Given the description of an element on the screen output the (x, y) to click on. 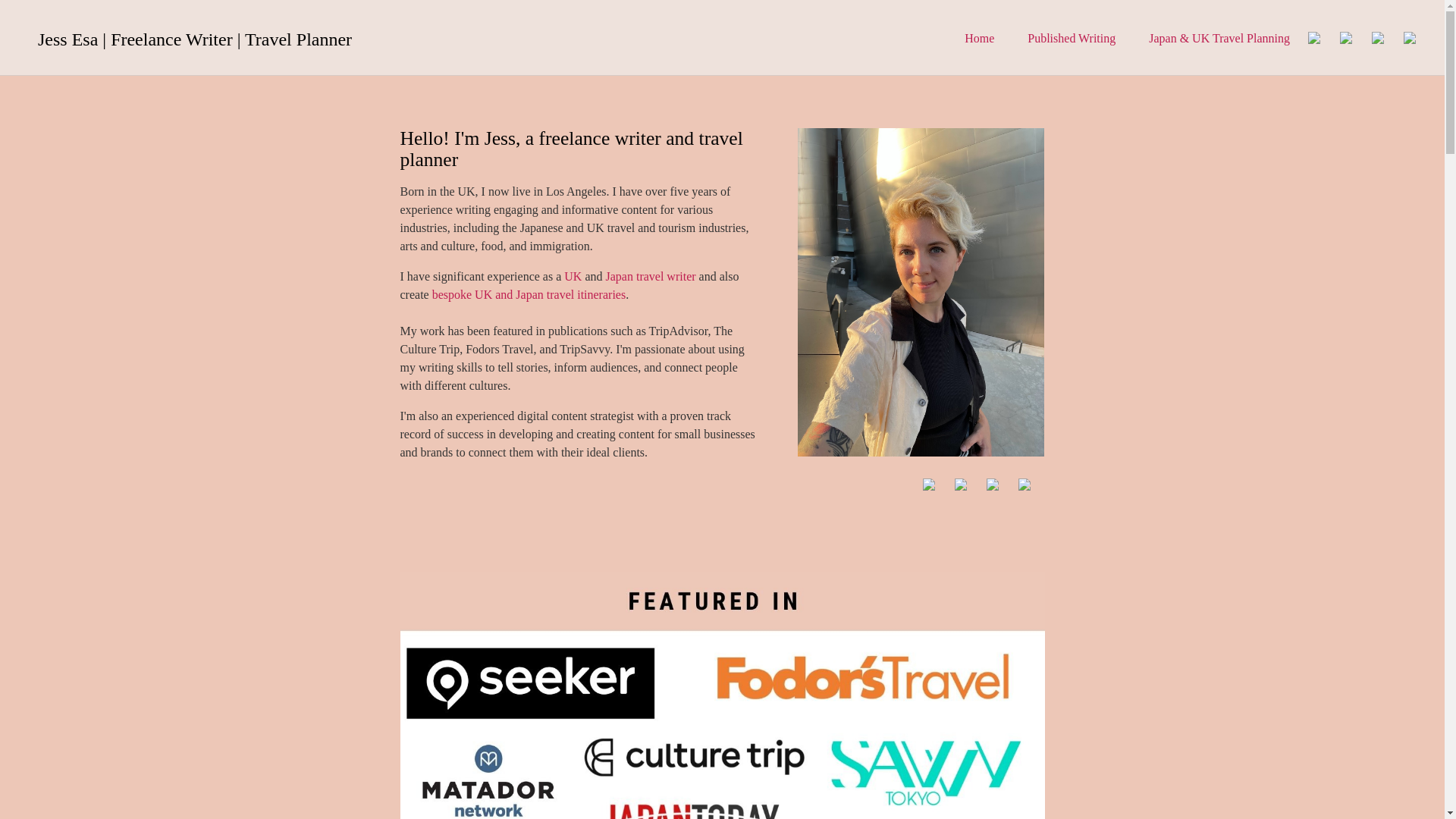
Home (978, 38)
UK (572, 276)
bespoke UK and Japan travel itineraries (529, 294)
Japan travel writer (650, 276)
Published Writing (1071, 38)
